Given the description of an element on the screen output the (x, y) to click on. 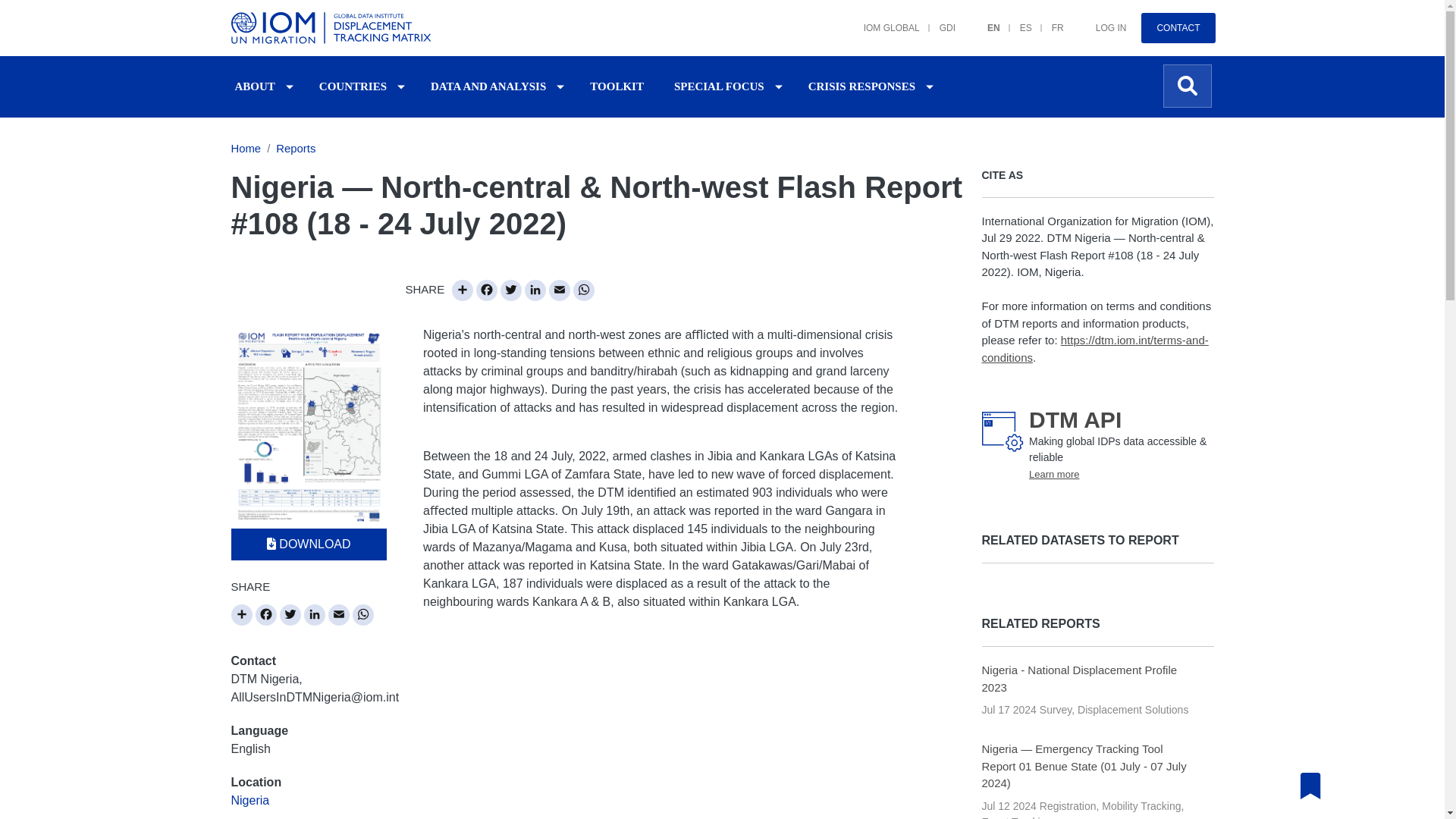
Home (333, 28)
GDI (937, 19)
IOM GLOBAL (882, 19)
LOG IN (1100, 19)
CONTACT (1177, 28)
ES (1016, 19)
EN (984, 19)
ABOUT (254, 86)
FR (1048, 19)
